Given the description of an element on the screen output the (x, y) to click on. 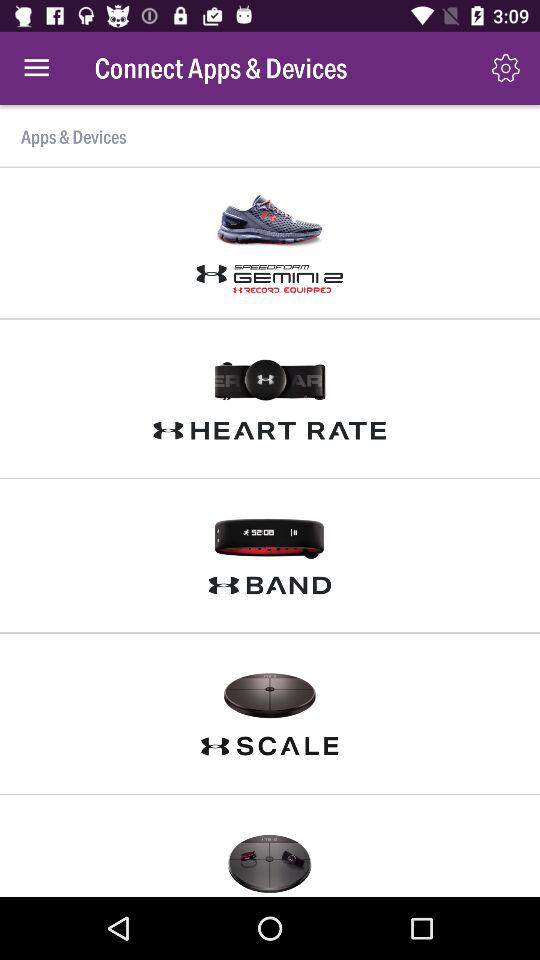
press the item above apps & devices (505, 67)
